Given the description of an element on the screen output the (x, y) to click on. 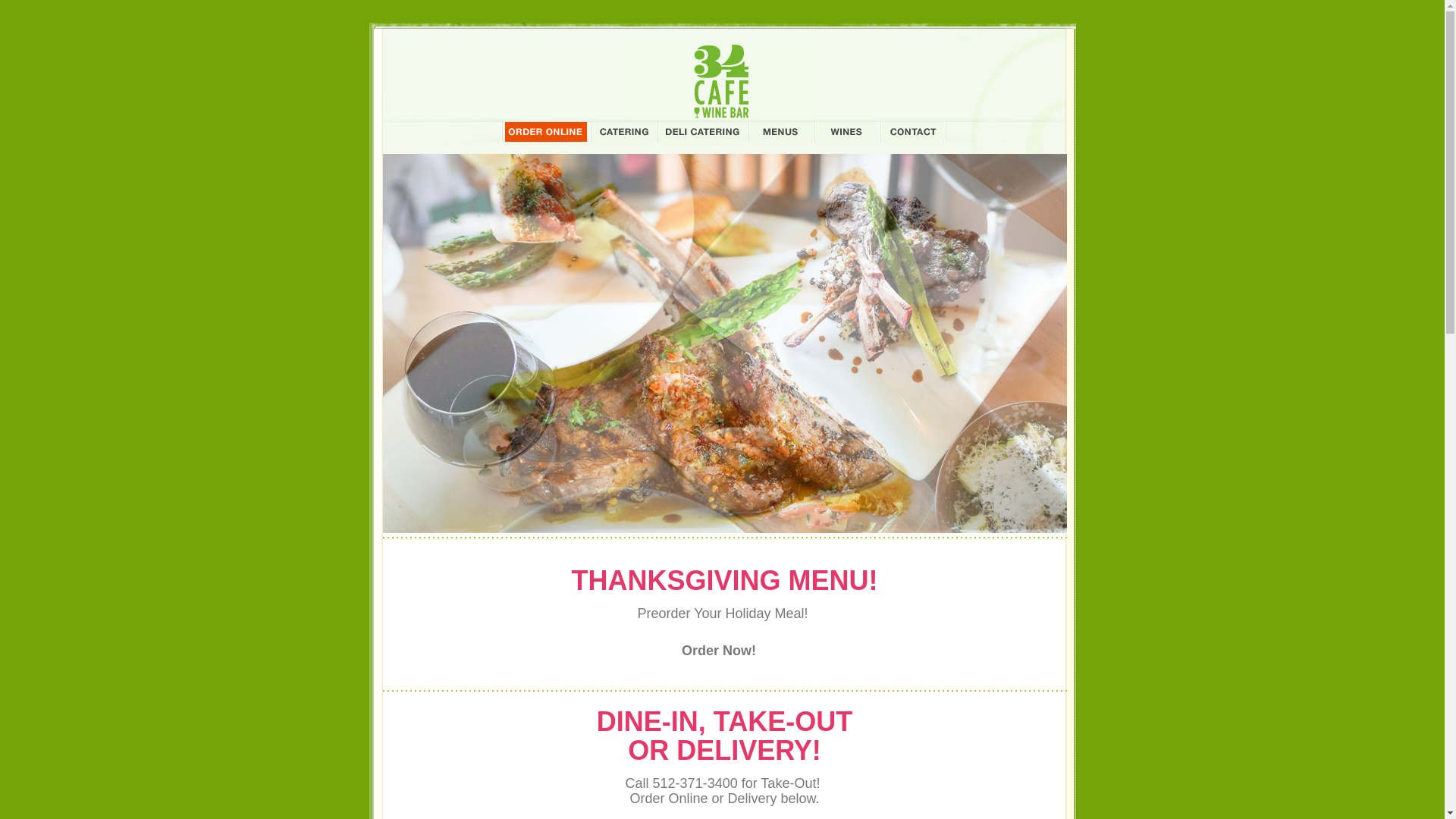
Order Now! Element type: text (724, 650)
